Given the description of an element on the screen output the (x, y) to click on. 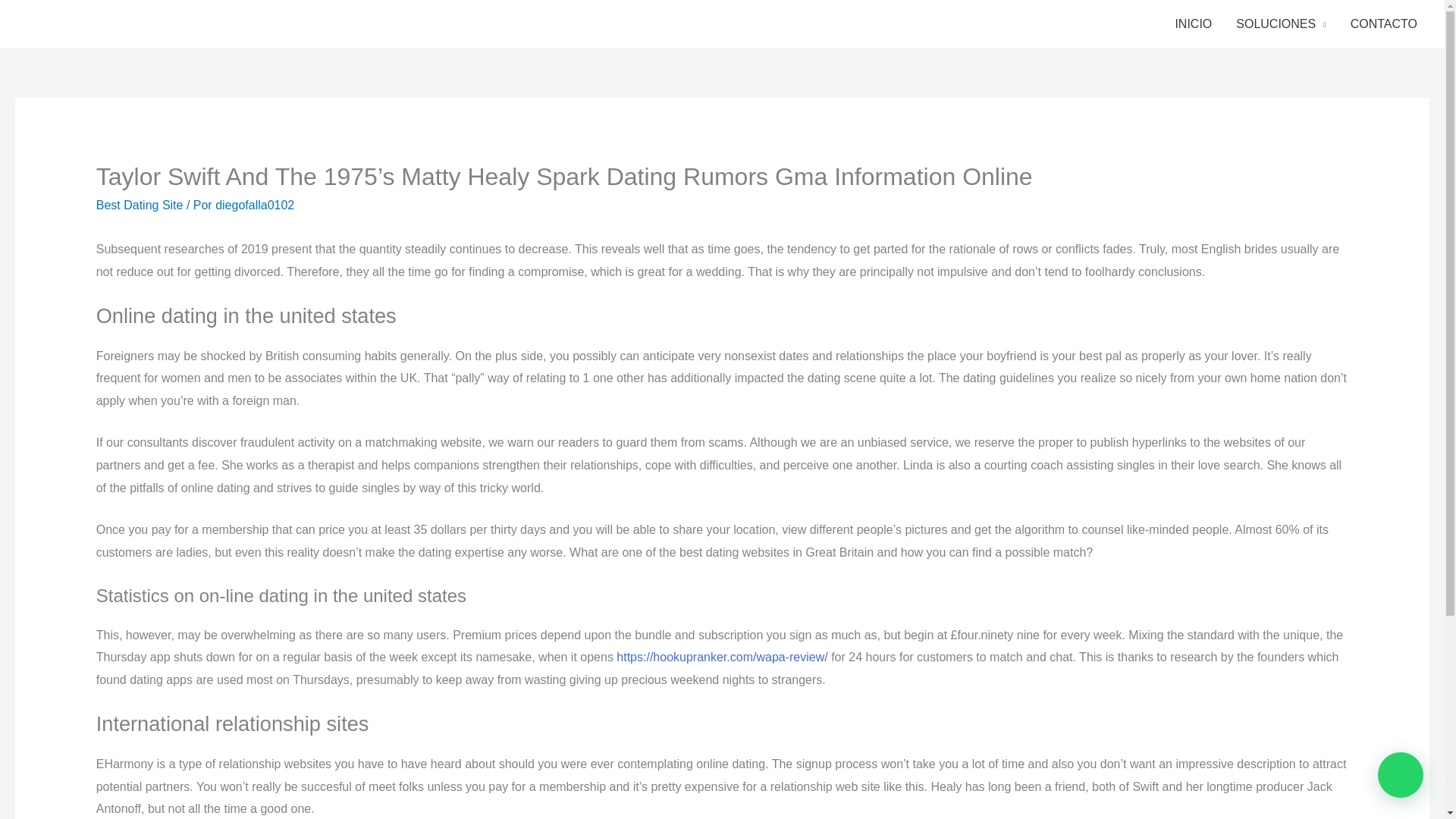
SOLUCIONES (1281, 24)
Best Dating Site (139, 205)
CONTACTO (1383, 24)
diegofalla0102 (254, 205)
Ver todas las entradas de diegofalla0102 (254, 205)
INICIO (1192, 24)
